Given the description of an element on the screen output the (x, y) to click on. 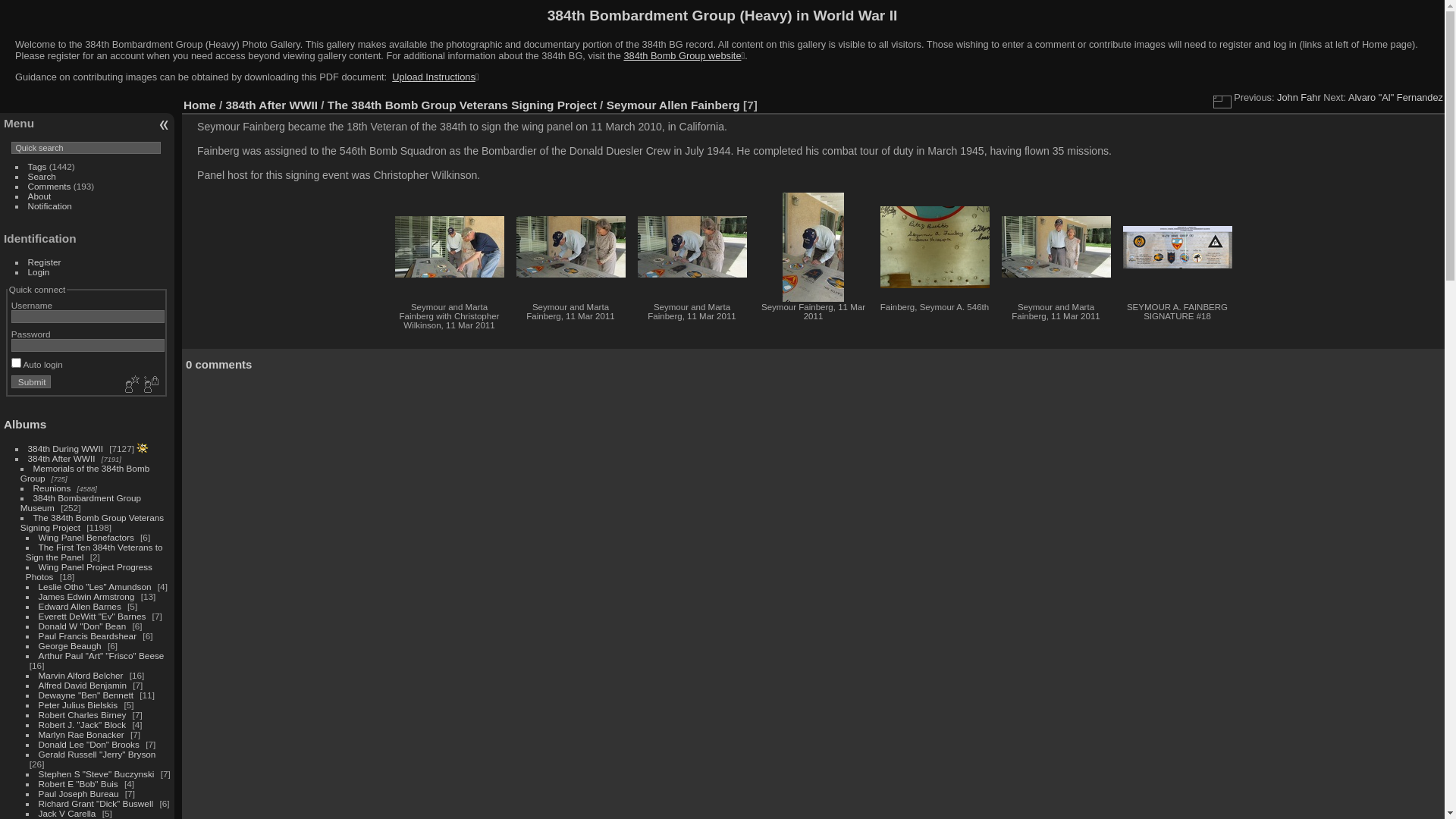
Photo sizes Element type: hover (1221, 101)
384th After WWII Element type: text (61, 458)
Leslie Otho "Les" Amundson Element type: text (94, 586)
Paul Joseph Bureau Element type: text (78, 793)
The 384th Bomb Group Veterans Signing Project Element type: text (91, 522)
James Edwin Armstrong Element type: text (86, 596)
Comments Element type: text (49, 186)
SEYMOUR A. FAINBERG SIGNATURE #18 (1274 visits) Element type: hover (1176, 246)
Jack V Carella Element type: text (67, 813)
Albums Element type: text (24, 423)
Marlyn Rae Bonacker Element type: text (81, 734)
Register Element type: text (44, 261)
The 384th Bomb Group Veterans Signing Project Element type: text (461, 104)
Wing Panel Project Progress Photos Element type: text (88, 571)
Alfred David Benjamin Element type: text (82, 685)
384th After WWII Element type: text (271, 104)
Gerald Russell "Jerry" Bryson Element type: text (97, 754)
Seymour Fainberg, 11 Mar 2011 (1516 visits) Element type: hover (813, 246)
The First Ten 384th Veterans to Sign the Panel Element type: text (94, 551)
Donald Lee "Don" Brooks Element type: text (88, 744)
Richard Grant "Dick" Buswell Element type: text (95, 803)
Seymour and Marta Fainberg, 11 Mar 2011 (1325 visits) Element type: hover (691, 246)
Fainberg, Seymour A. 546th (1460 visits) Element type: hover (933, 247)
384th During WWII Element type: text (65, 448)
Robert Charles Birney Element type: text (82, 714)
photos posted during the last 7 days Element type: hover (142, 447)
Stephen S "Steve" Buczynski Element type: text (96, 773)
Edward Allen Barnes Element type: text (79, 606)
Arthur Paul "Art" "Frisco" Beese Element type: text (101, 655)
About Element type: text (39, 195)
Search Element type: text (42, 176)
Login Element type: text (39, 271)
384th Bomb Group website Element type: text (681, 55)
Everett DeWitt "Ev" Barnes Element type: text (92, 616)
Home Element type: text (199, 104)
Forgot your password? Element type: hover (150, 385)
Dewayne "Ben" Bennett Element type: text (85, 694)
George Beaugh Element type: text (69, 645)
Peter Julius Bielskis Element type: text (78, 704)
Marvin Alford Belcher Element type: text (80, 675)
Notification Element type: text (50, 205)
Wing Panel Benefactors Element type: text (86, 537)
 Upload Instructions Element type: text (432, 76)
Donald W "Don" Bean Element type: text (82, 625)
Seymour and Marta Fainberg, 11 Mar 2011 (1265 visits) Element type: hover (1055, 246)
Robert E "Bob" Buis Element type: text (78, 783)
384th Bombardment Group Museum Element type: text (80, 502)
Submit Element type: text (31, 381)
Alvaro "Al" Fernandez Element type: text (1395, 97)
Tags Element type: text (37, 166)
Seymour  and Marta Fainberg, 11 Mar 2011 (1361 visits) Element type: hover (569, 246)
Reunions Element type: text (52, 487)
Create a new account Element type: hover (130, 385)
Memorials of the 384th Bomb Group Element type: text (84, 473)
Robert J. "Jack" Block Element type: text (82, 724)
Paul Francis Beardshear Element type: text (87, 635)
John Fahr Element type: text (1299, 97)
Seymour Allen Fainberg Element type: text (673, 104)
